Given the description of an element on the screen output the (x, y) to click on. 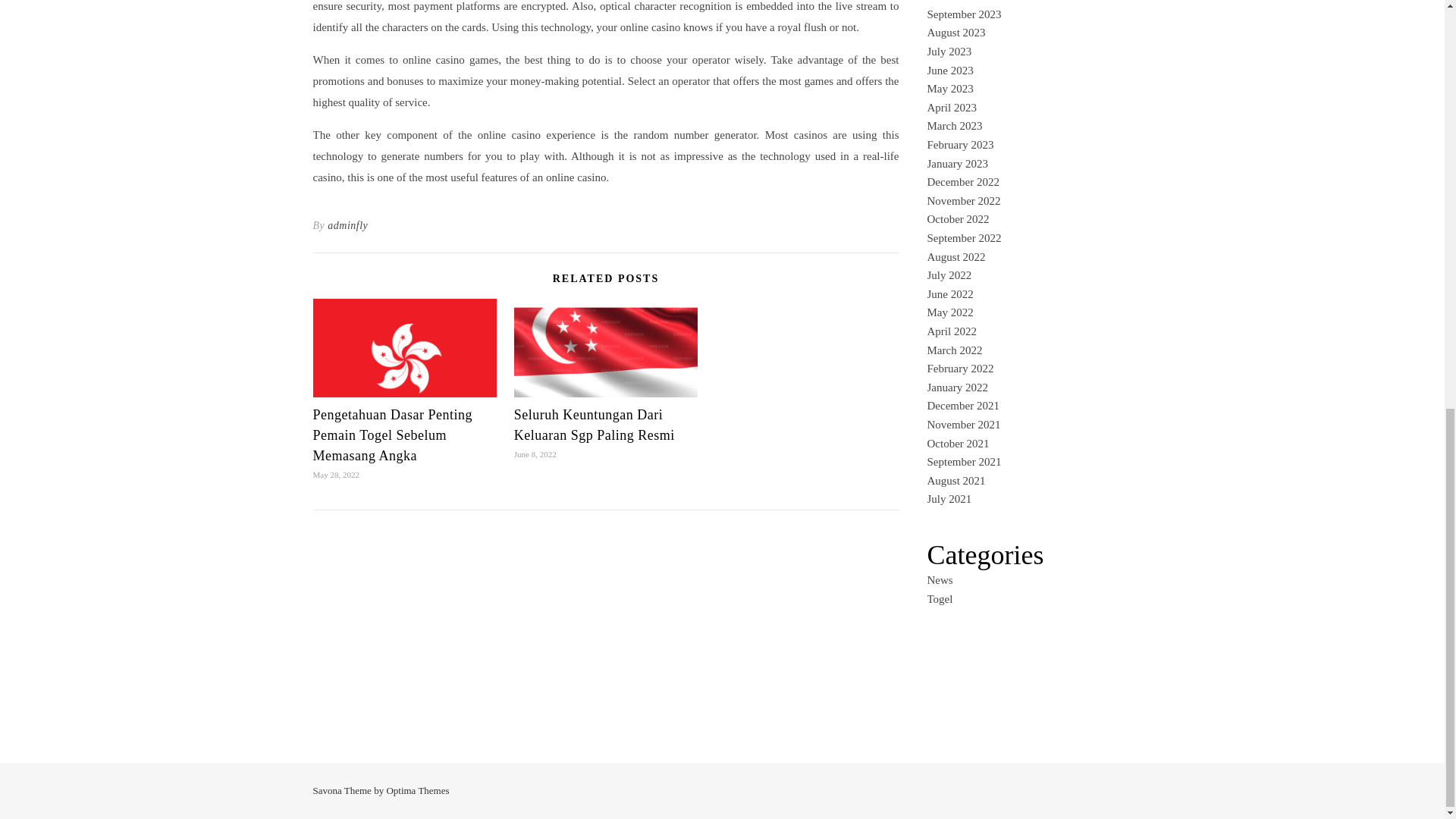
October 2023 (957, 0)
August 2023 (955, 32)
May 2023 (949, 88)
February 2023 (959, 144)
July 2023 (948, 51)
January 2023 (956, 163)
March 2023 (953, 125)
adminfly (347, 225)
June 2023 (949, 70)
Posts by adminfly (347, 225)
Seluruh Keuntungan Dari Keluaran Sgp Paling Resmi (594, 425)
December 2022 (962, 182)
September 2023 (963, 14)
April 2023 (950, 107)
